Given the description of an element on the screen output the (x, y) to click on. 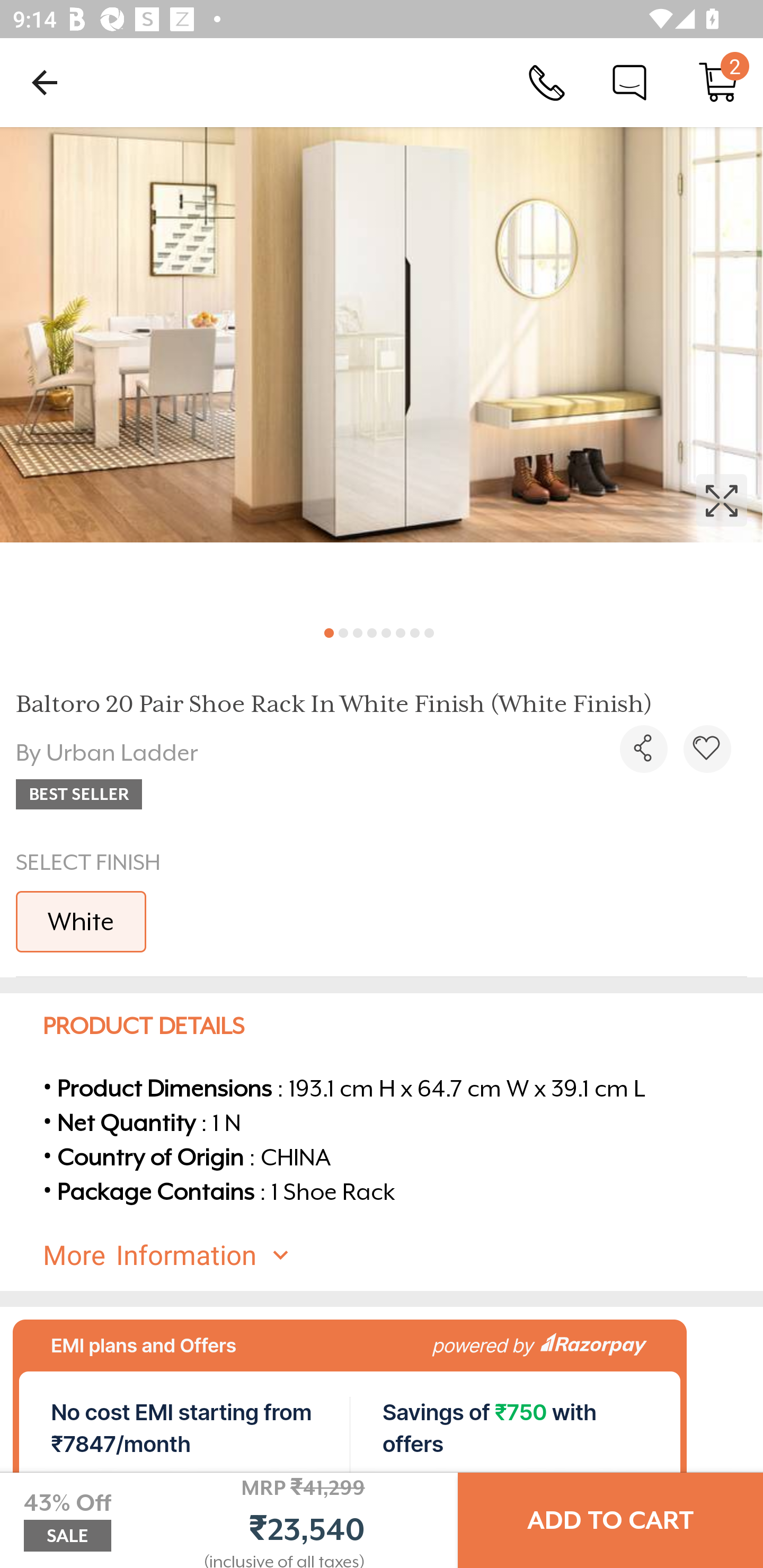
Navigate up (44, 82)
Call Us (546, 81)
Chat (629, 81)
Cart (718, 81)
 (381, 370)
 (643, 748)
 (706, 748)
White (81, 920)
More Information  (396, 1255)
ADD TO CART (610, 1520)
